Given the description of an element on the screen output the (x, y) to click on. 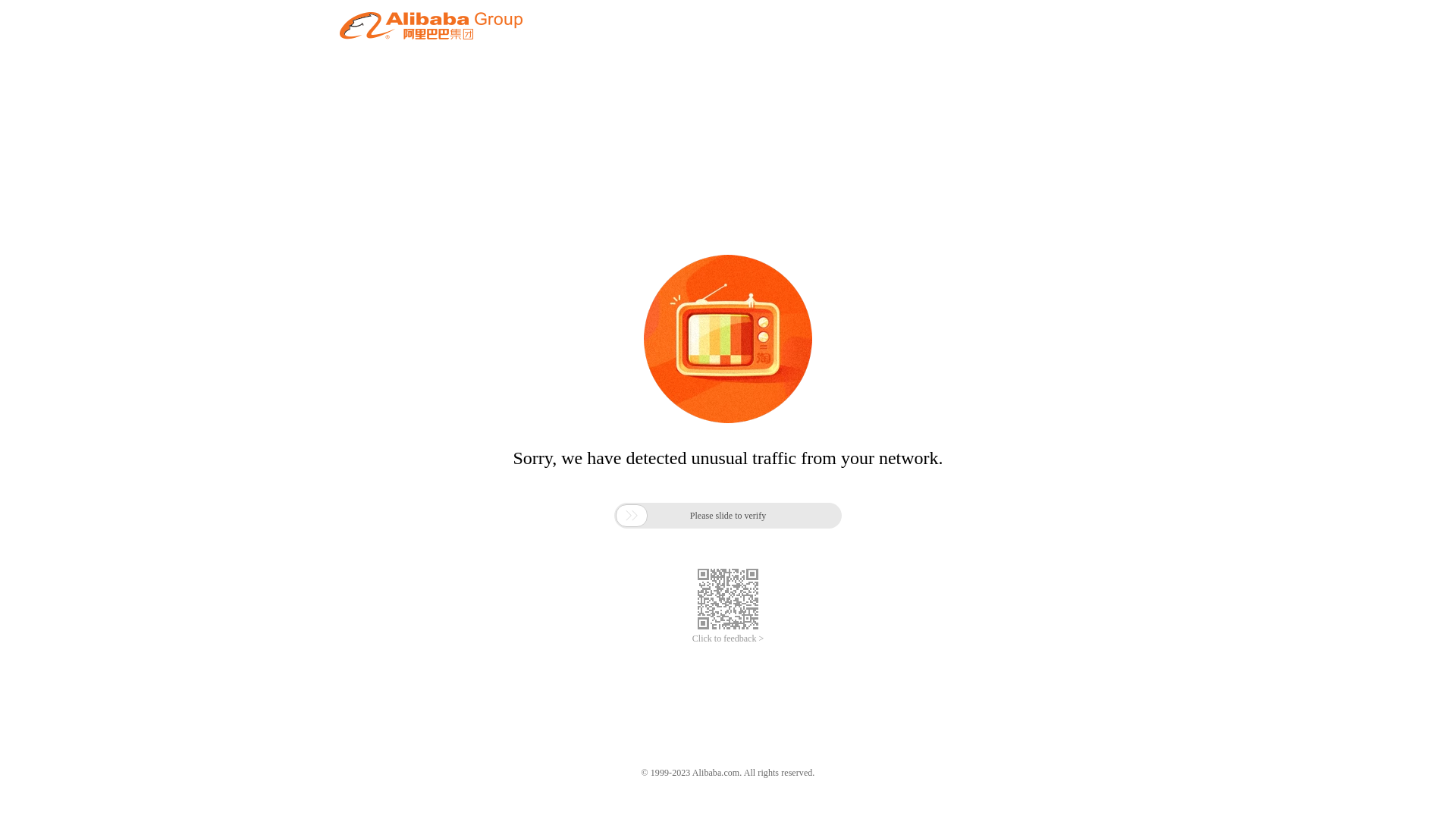
Click to feedback > Element type: text (727, 638)
